Given the description of an element on the screen output the (x, y) to click on. 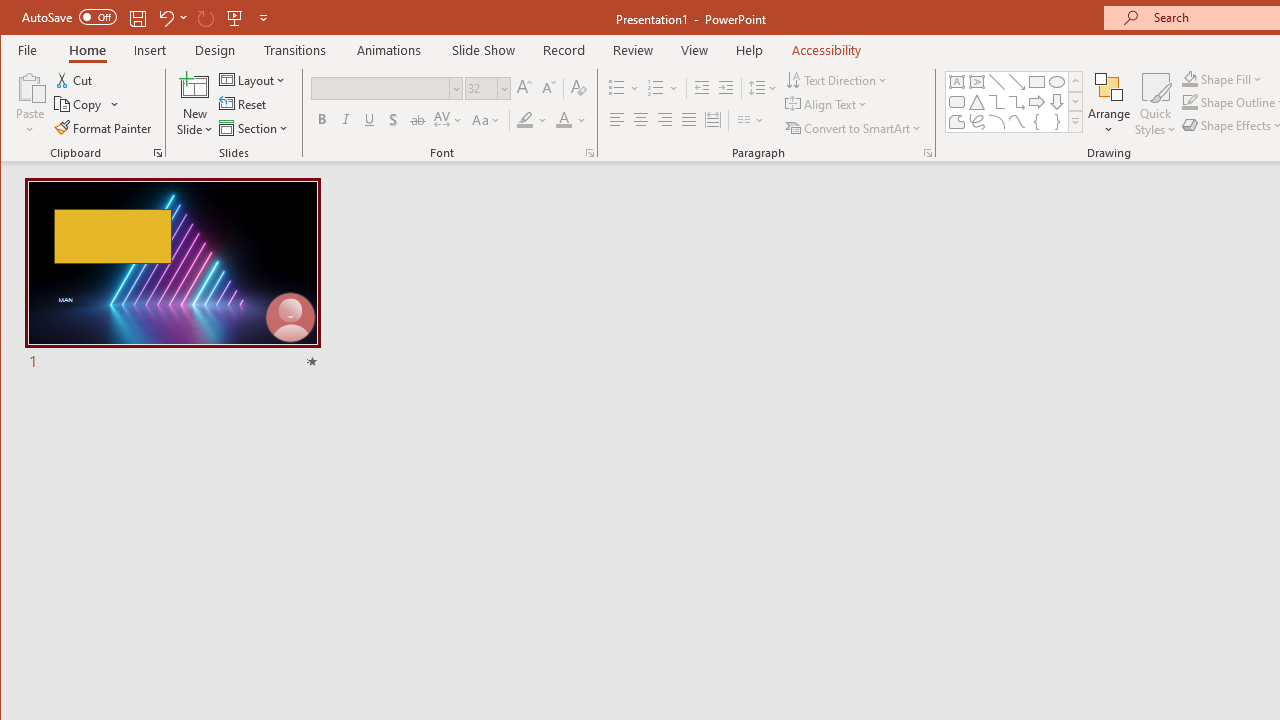
Center (640, 119)
Vertical Text Box (976, 82)
Align Left (616, 119)
Cut (74, 80)
Font... (589, 152)
Strikethrough (417, 119)
